Given the description of an element on the screen output the (x, y) to click on. 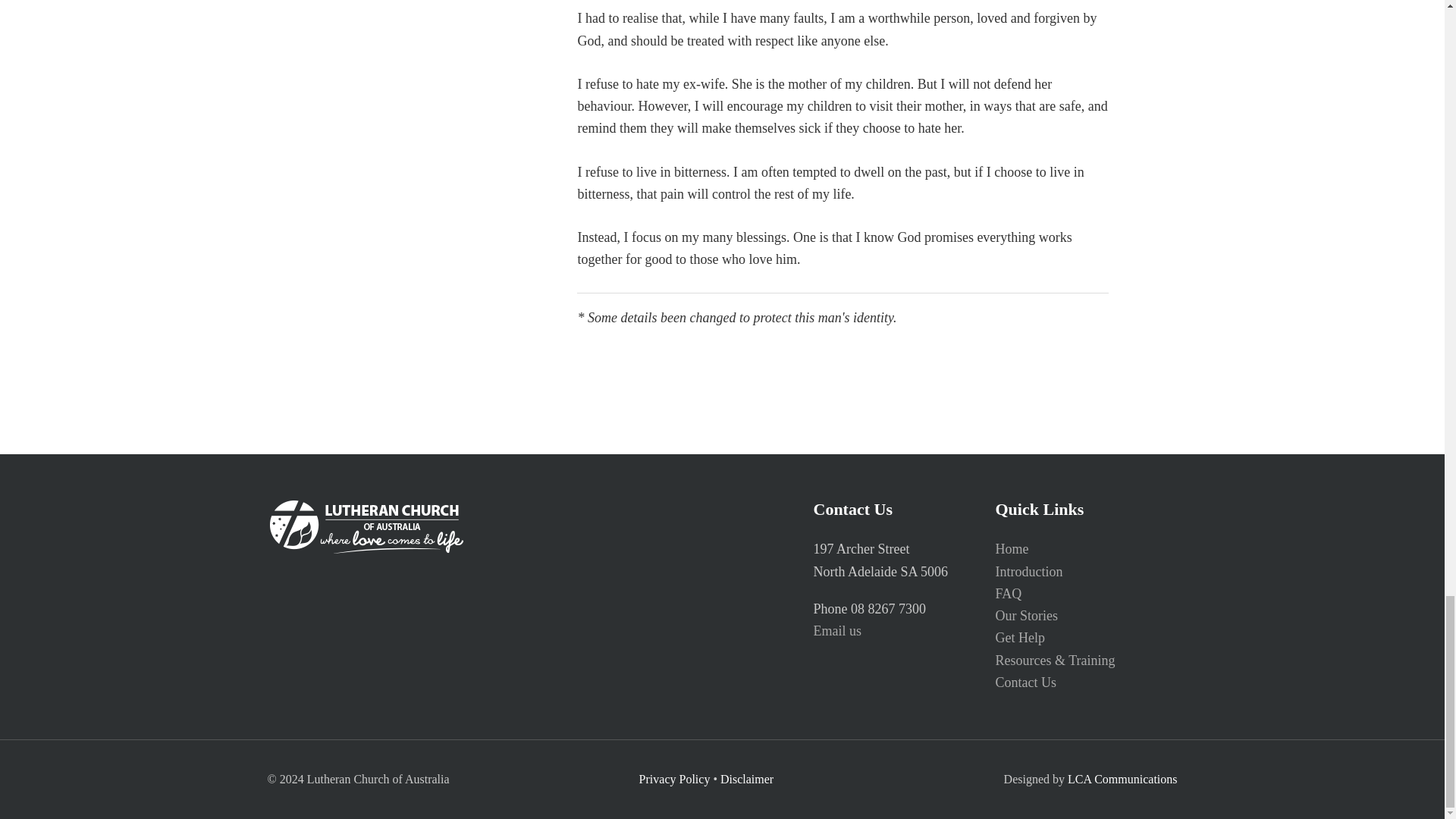
Our Stories (1026, 615)
Home (1010, 548)
Introduction (1028, 571)
FAQ (1008, 593)
